Given the description of an element on the screen output the (x, y) to click on. 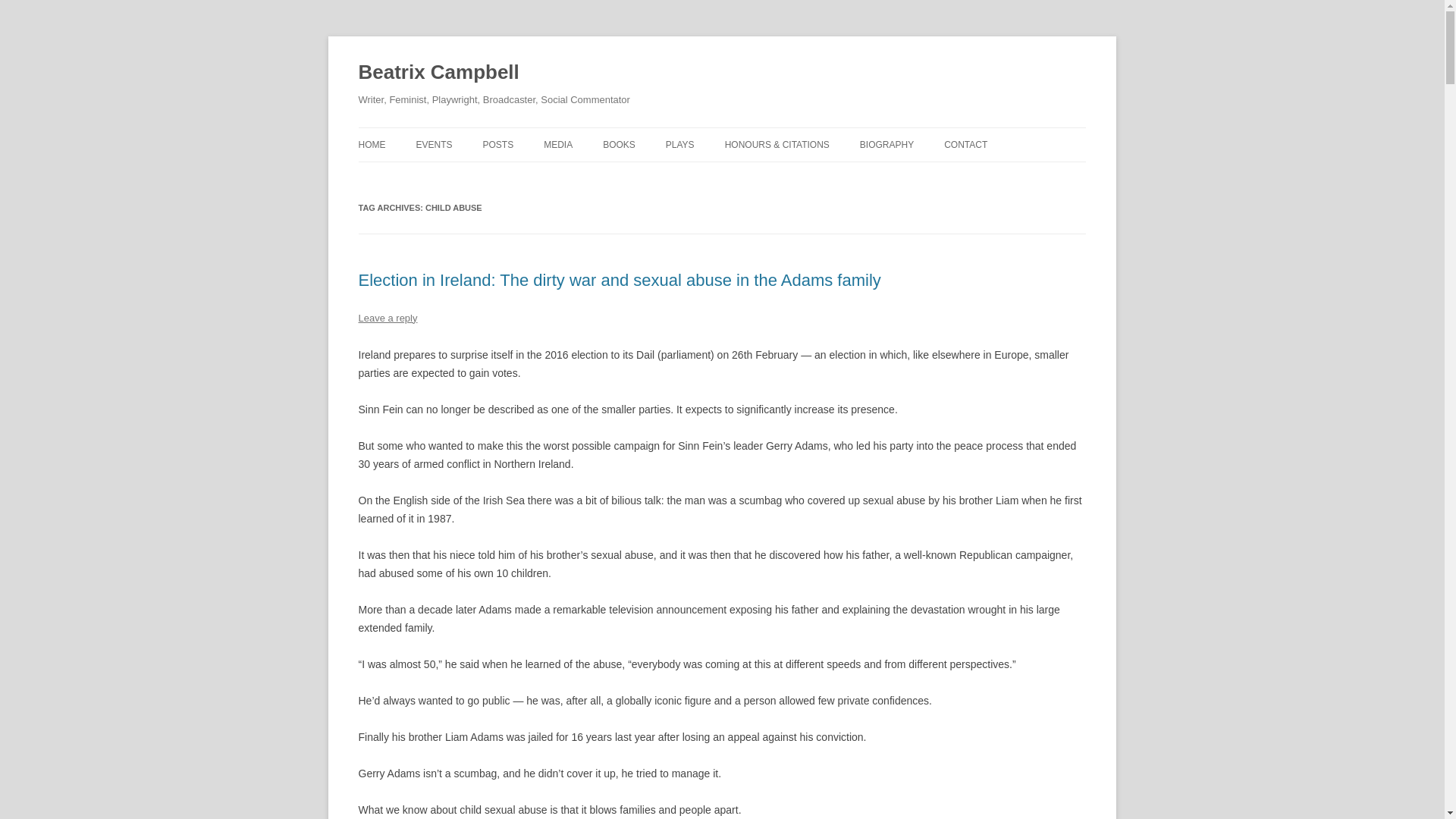
BIOGRAPHY (887, 144)
AUDIO AND VIDEO (619, 176)
Beatrix Campbell (438, 72)
AGREEMENT! (678, 176)
Leave a reply (387, 317)
AND ALL THE CHILDREN CRIED, 2004 (740, 185)
BOOKS (618, 144)
POSTS (497, 144)
EVENTS (432, 144)
